Given the description of an element on the screen output the (x, y) to click on. 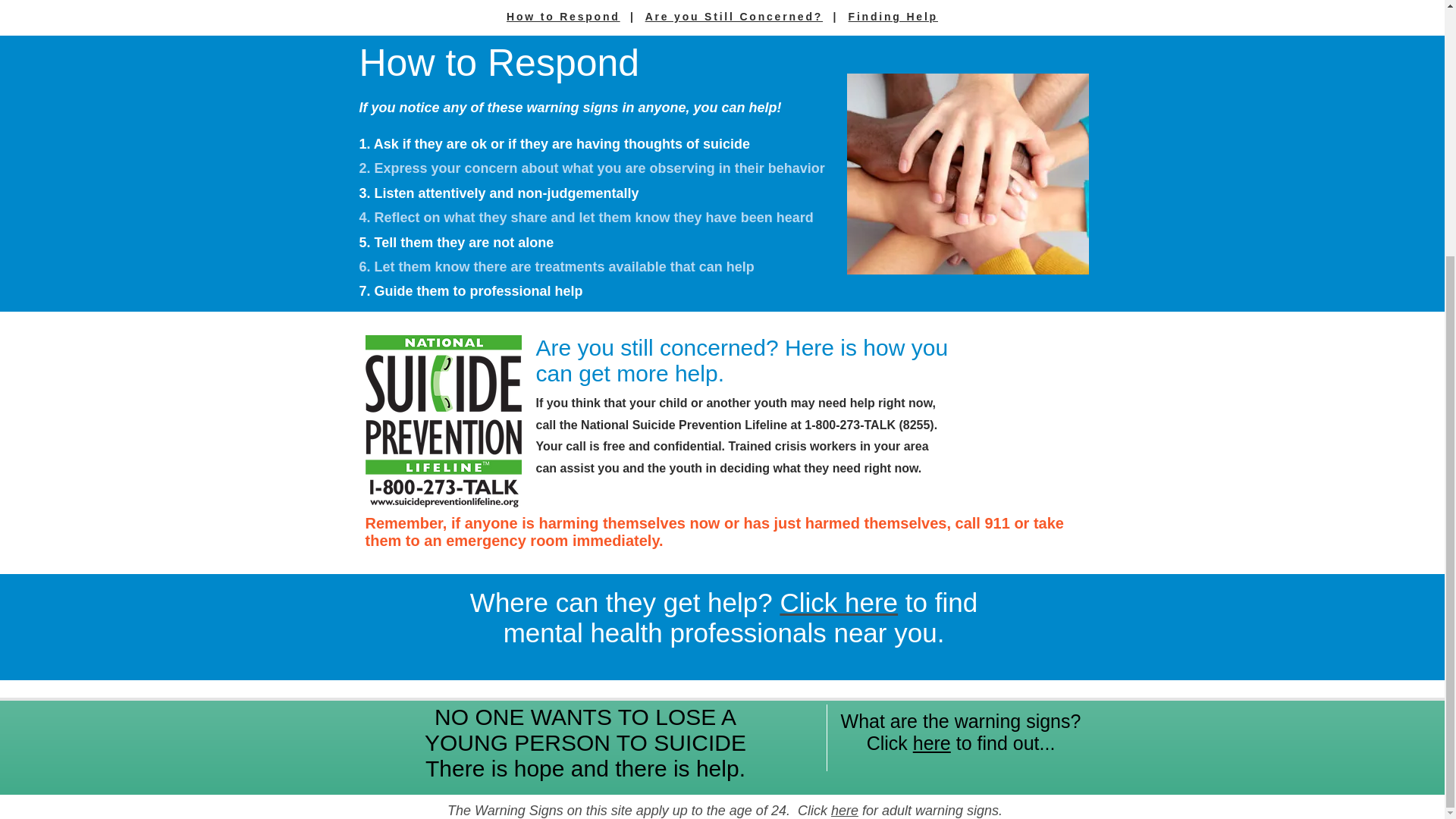
What are the warning signs? (961, 721)
here (845, 810)
How to Respond (563, 16)
Click here to find out... (960, 742)
Click here (838, 602)
Are you Still Concerned? (733, 16)
Finding Help (892, 16)
